Given the description of an element on the screen output the (x, y) to click on. 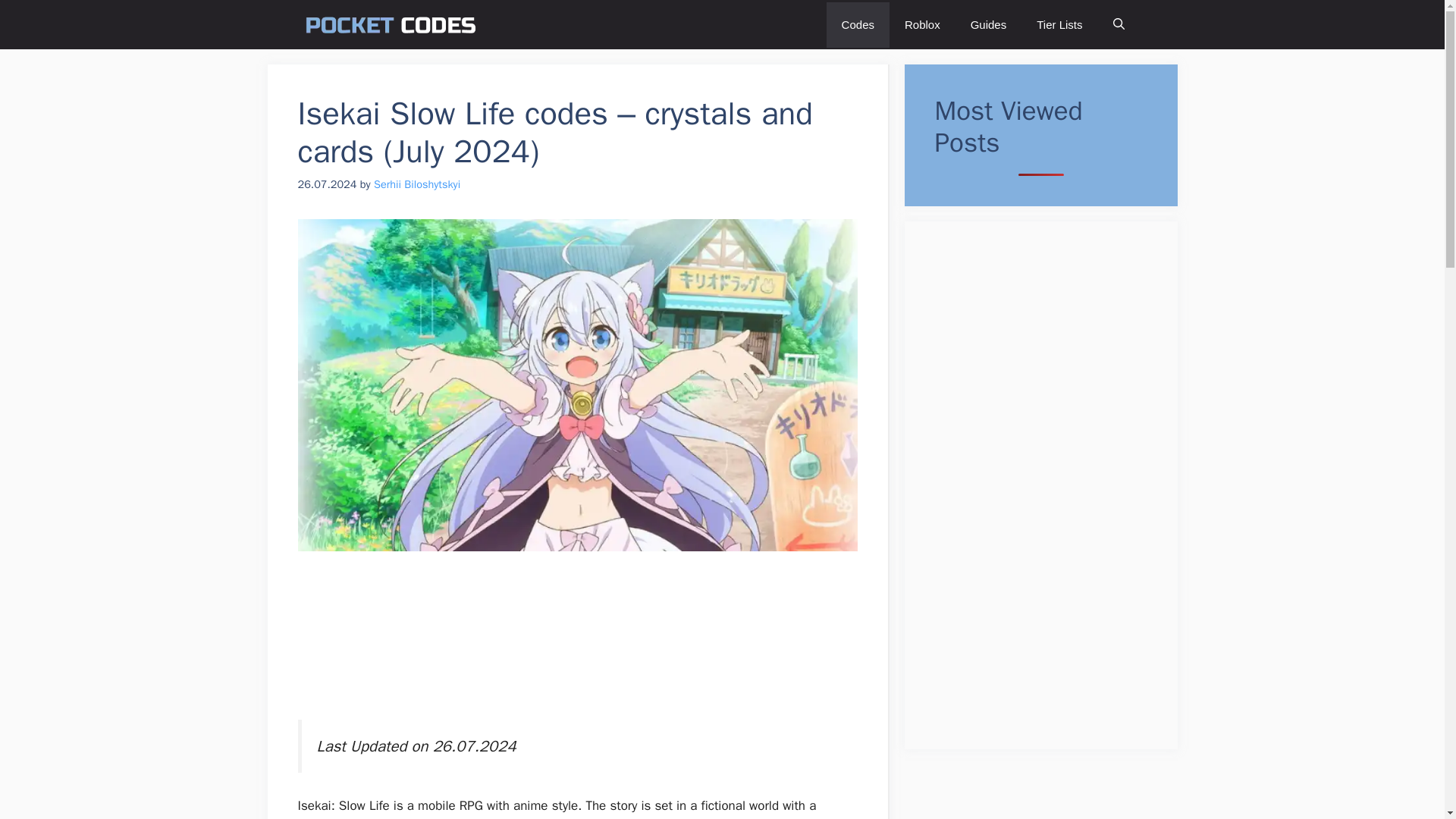
View all posts by Serhii Biloshytskyi (417, 183)
Roblox (922, 23)
Serhii Biloshytskyi (417, 183)
Guides (988, 23)
Tier Lists (1059, 23)
Codes (858, 23)
